Given the description of an element on the screen output the (x, y) to click on. 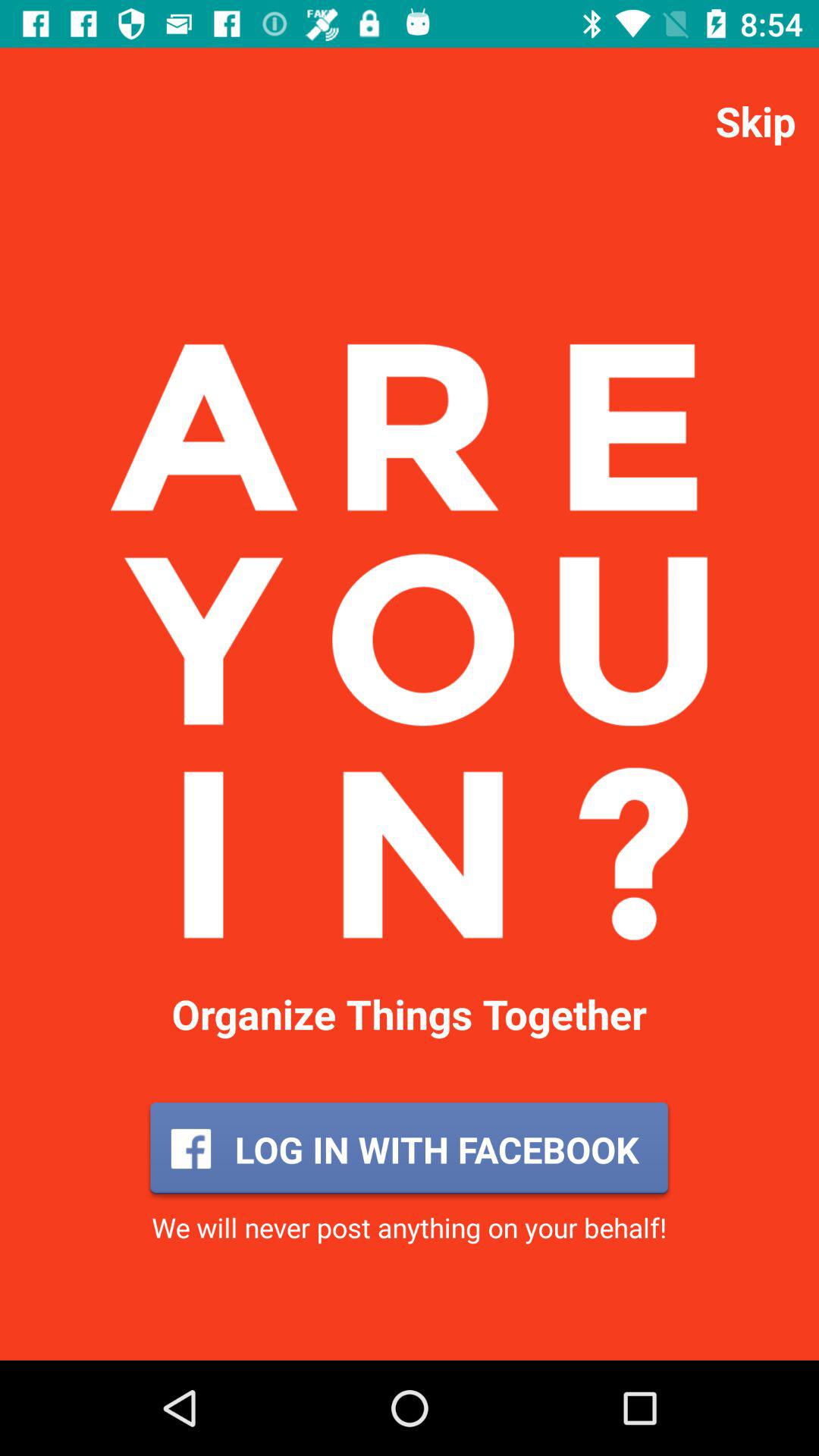
click log in with item (409, 1148)
